Given the description of an element on the screen output the (x, y) to click on. 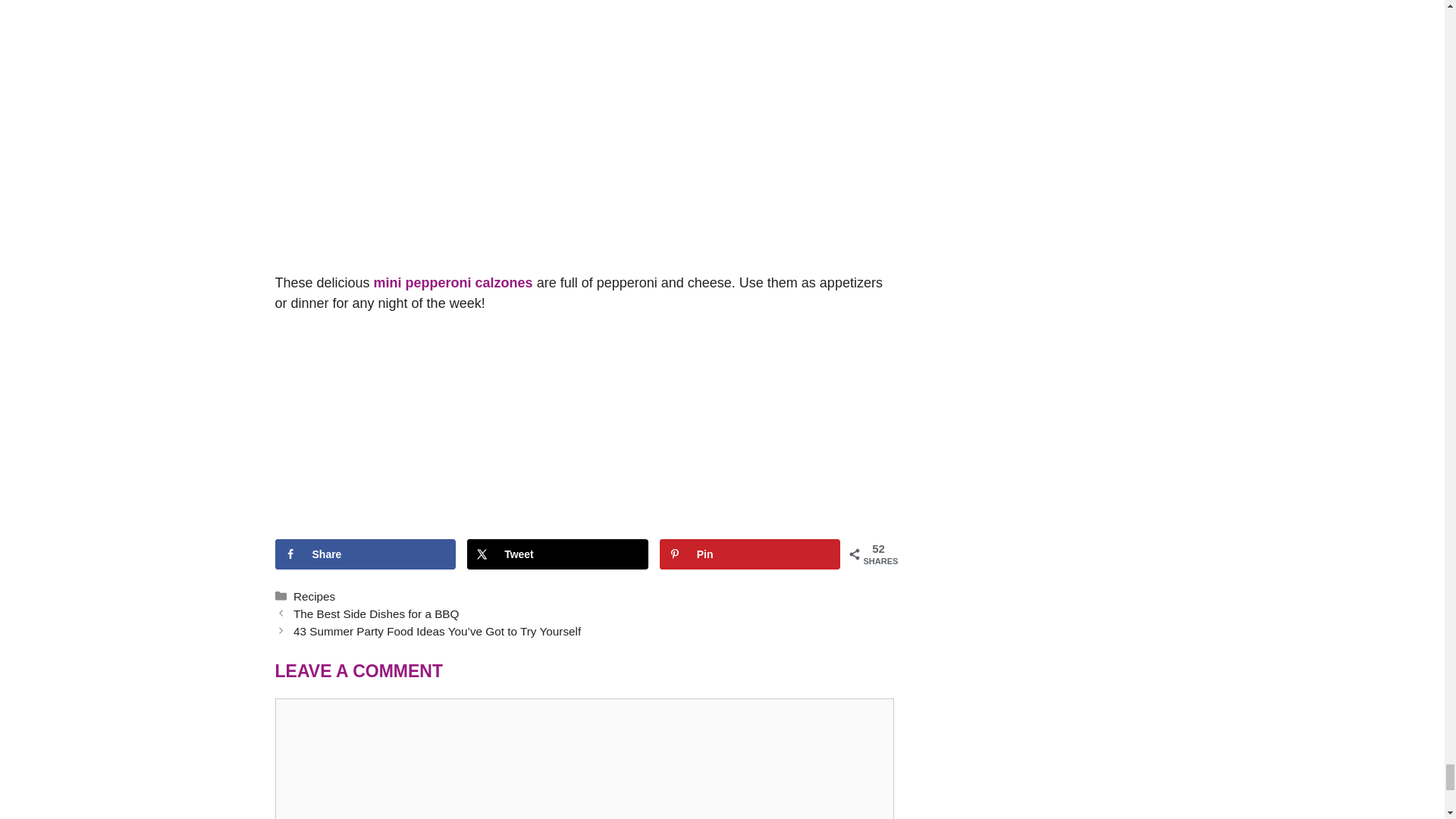
Share on Facebook (365, 553)
Save to Pinterest (750, 553)
Share on X (557, 553)
